Given the description of an element on the screen output the (x, y) to click on. 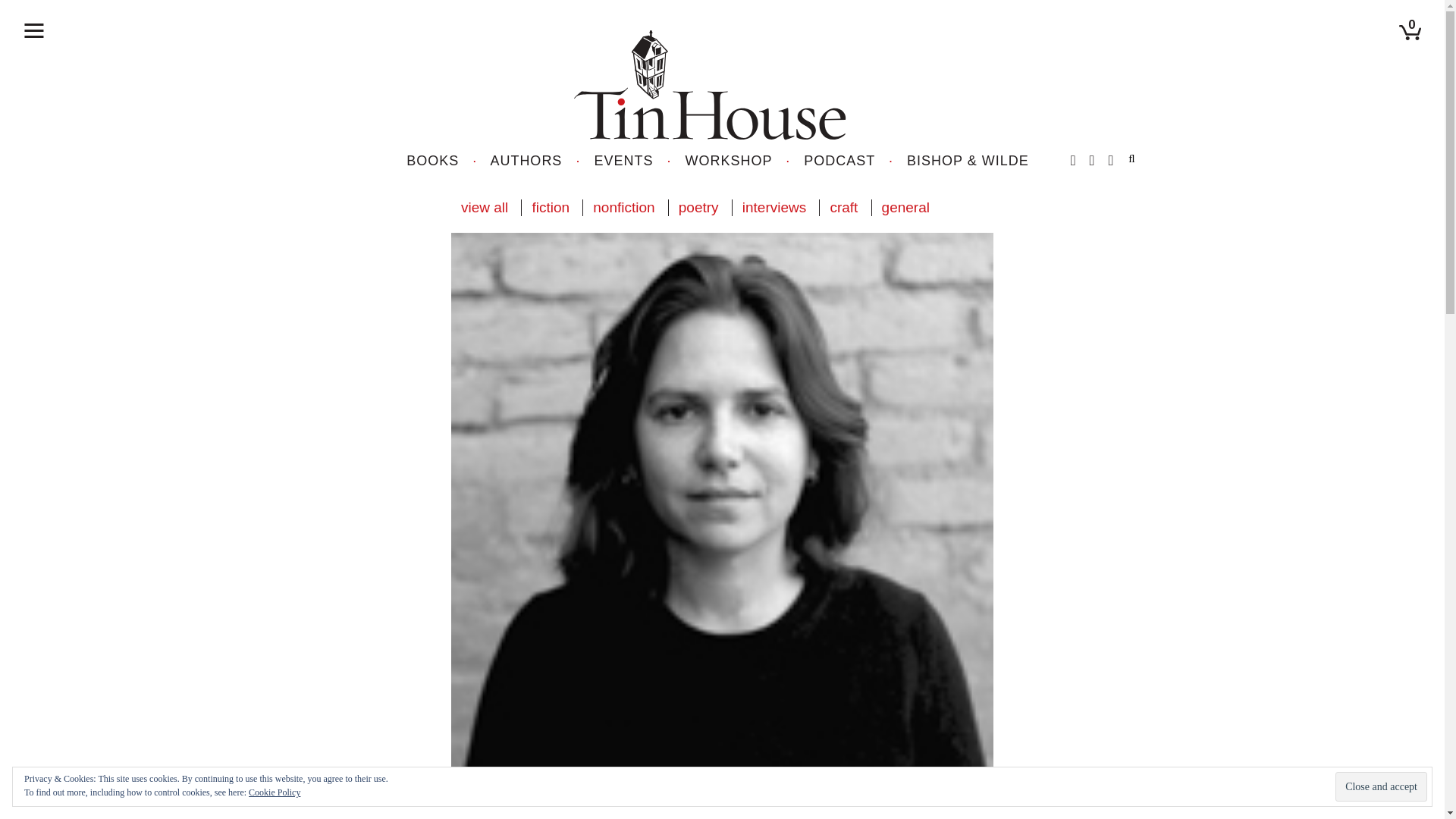
0 (1412, 25)
Created with Sketch. (716, 83)
Created with Sketch. (709, 85)
AUTHORS (525, 160)
facebook (1072, 160)
View your shopping cart (1412, 25)
created with sketch. (34, 30)
created with sketch. (33, 30)
WORKSHOP (729, 160)
interviews (773, 207)
PODCAST (839, 160)
Created with Sketch. (1410, 32)
instagram (1110, 160)
EVENTS (623, 160)
BOOKS (432, 160)
